Given the description of an element on the screen output the (x, y) to click on. 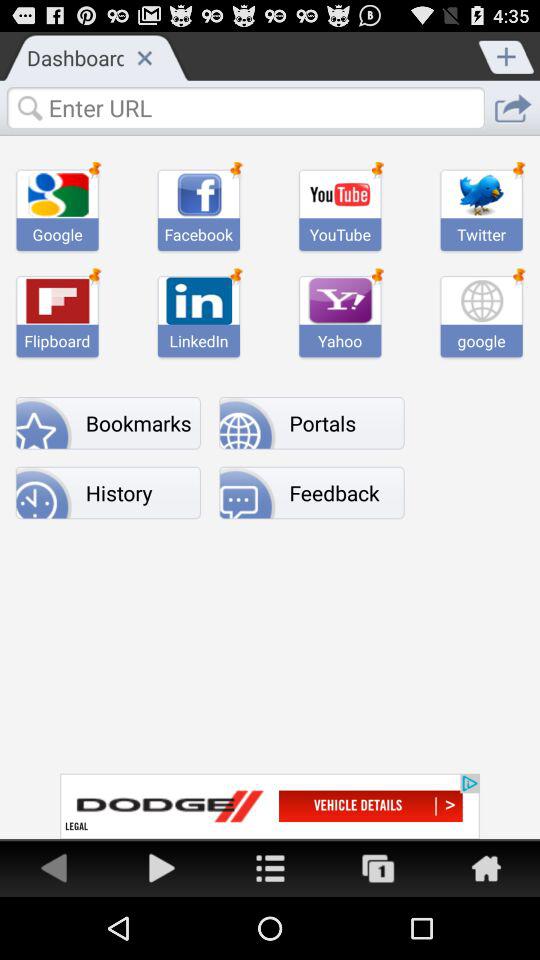
close tab (144, 57)
